Given the description of an element on the screen output the (x, y) to click on. 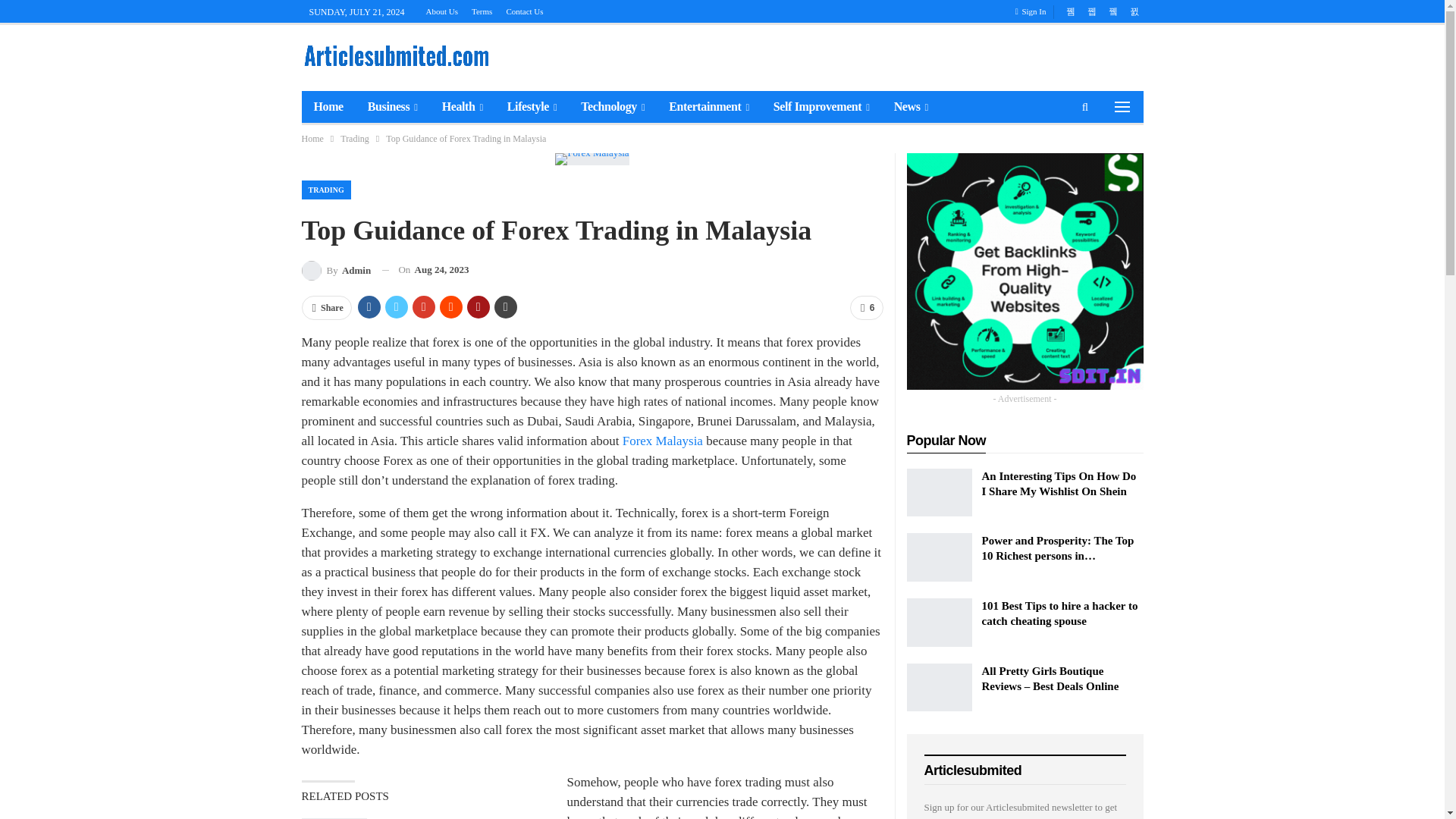
Home (328, 106)
How to Choose a Trading Robot (333, 818)
Browse Author Articles (336, 270)
Lifestyle (532, 106)
Contact Us (524, 10)
Sign In (1033, 11)
Health (462, 106)
Business (392, 106)
Terms (481, 10)
Technology (612, 106)
About Us (442, 10)
